Given the description of an element on the screen output the (x, y) to click on. 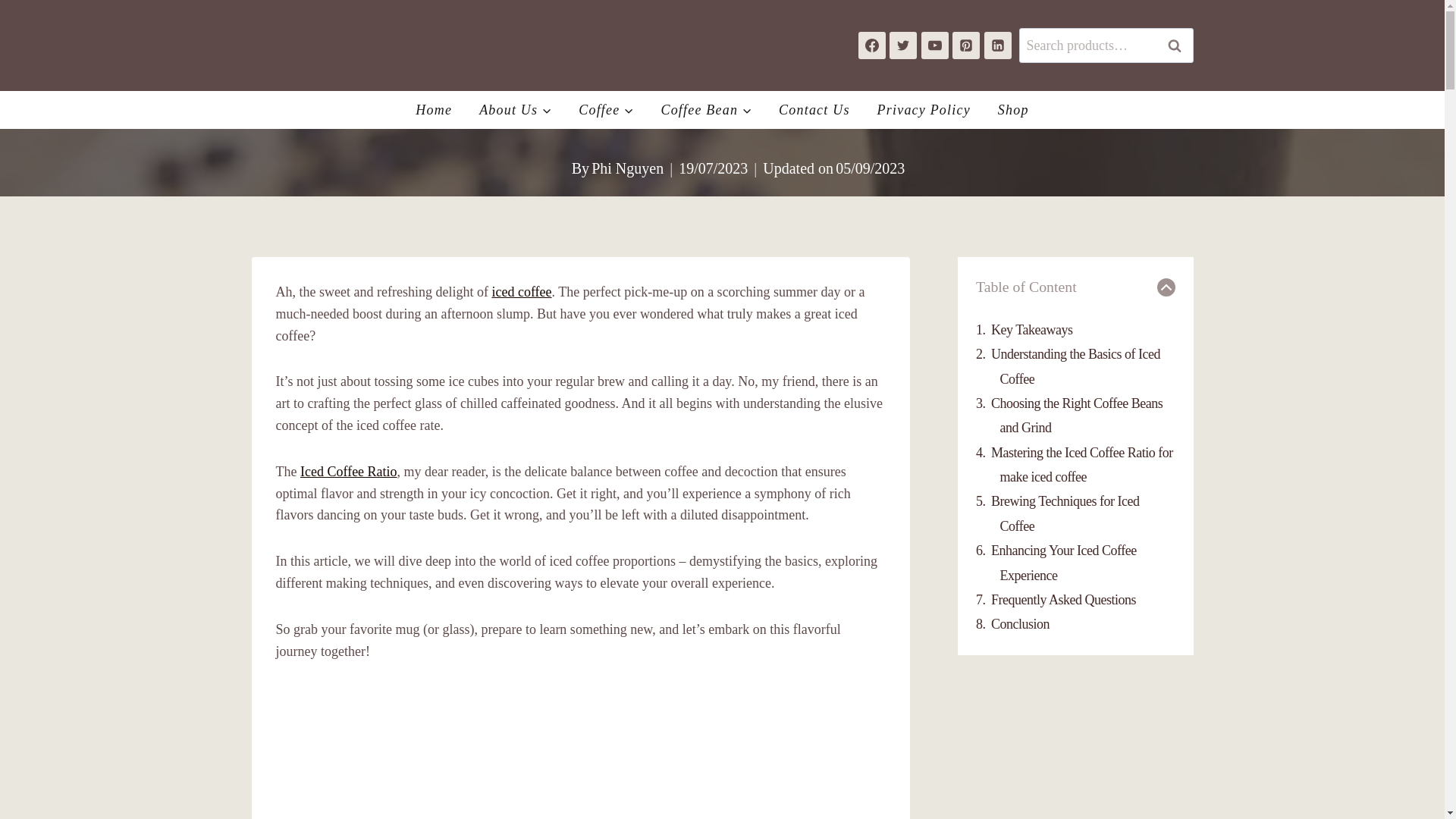
Search (1174, 44)
Iced Coffee Ideas! (581, 752)
Home (433, 109)
About Us (514, 109)
Shop (1013, 109)
Iced Coffee Ratio (348, 471)
Privacy Policy (923, 109)
Coffee Bean (705, 109)
Home (629, 72)
Phi Nguyen (627, 167)
Contact Us (814, 109)
iced coffee (521, 291)
Coffee (605, 109)
